Given the description of an element on the screen output the (x, y) to click on. 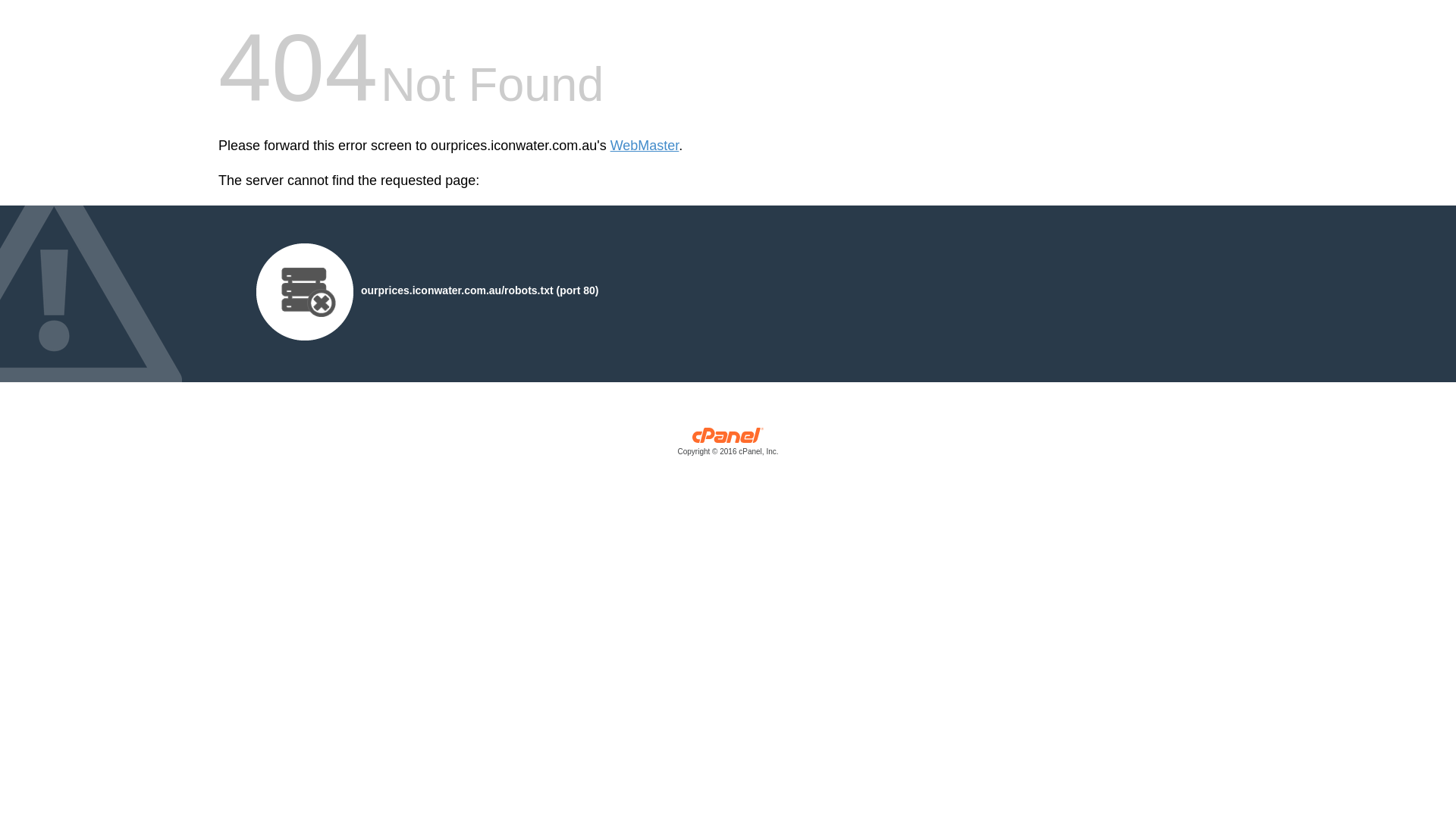
WebMaster Element type: text (644, 145)
